Given the description of an element on the screen output the (x, y) to click on. 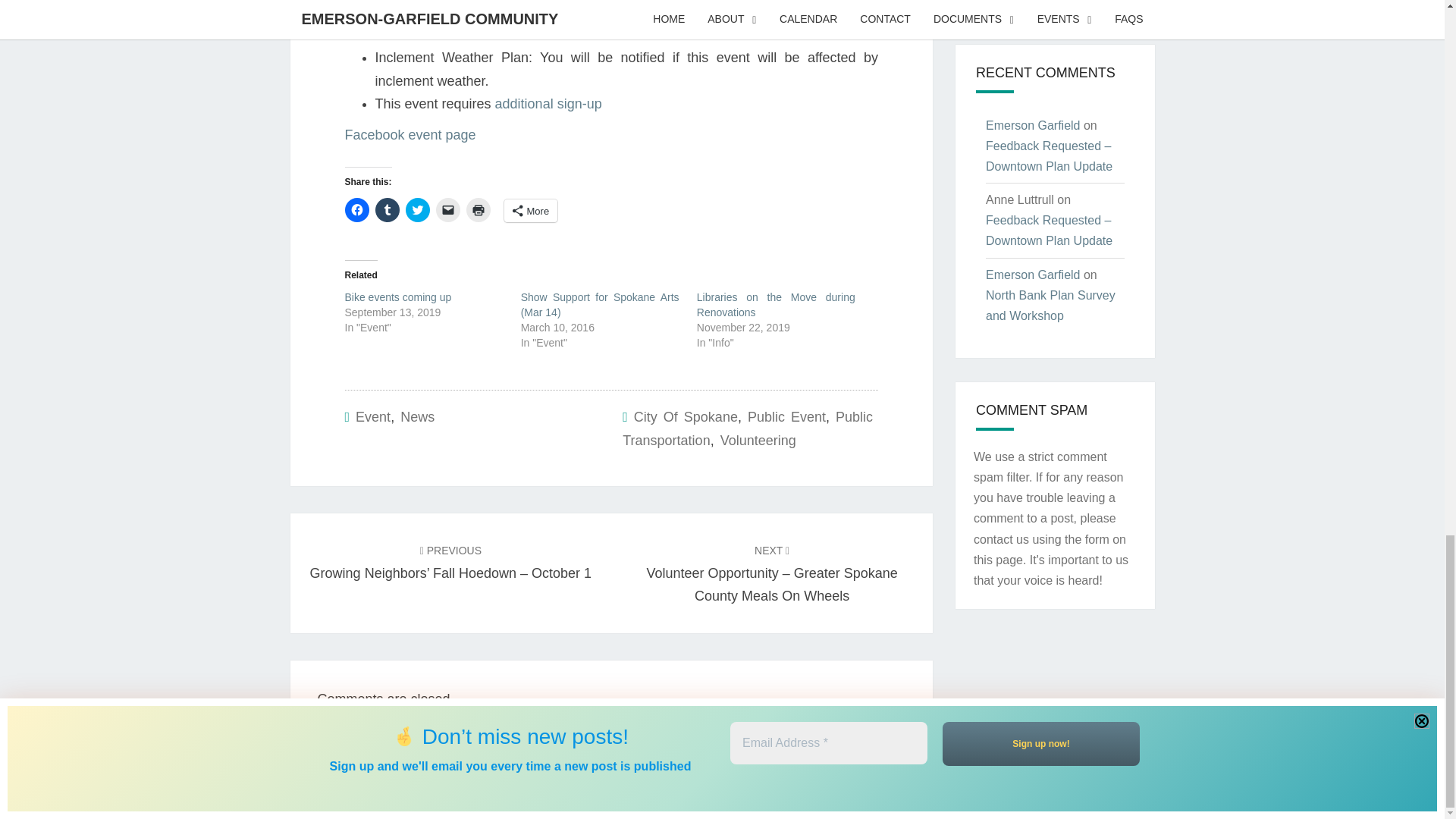
Event (372, 417)
Click to email a link to a friend (447, 209)
Facebook event page (409, 134)
Click to share on Twitter (416, 209)
additional sign-up (548, 103)
More (530, 210)
Bike events coming up (397, 297)
Click to print (477, 209)
Libraries on the Move during Renovations (776, 304)
Click to share on Tumblr (386, 209)
